Given the description of an element on the screen output the (x, y) to click on. 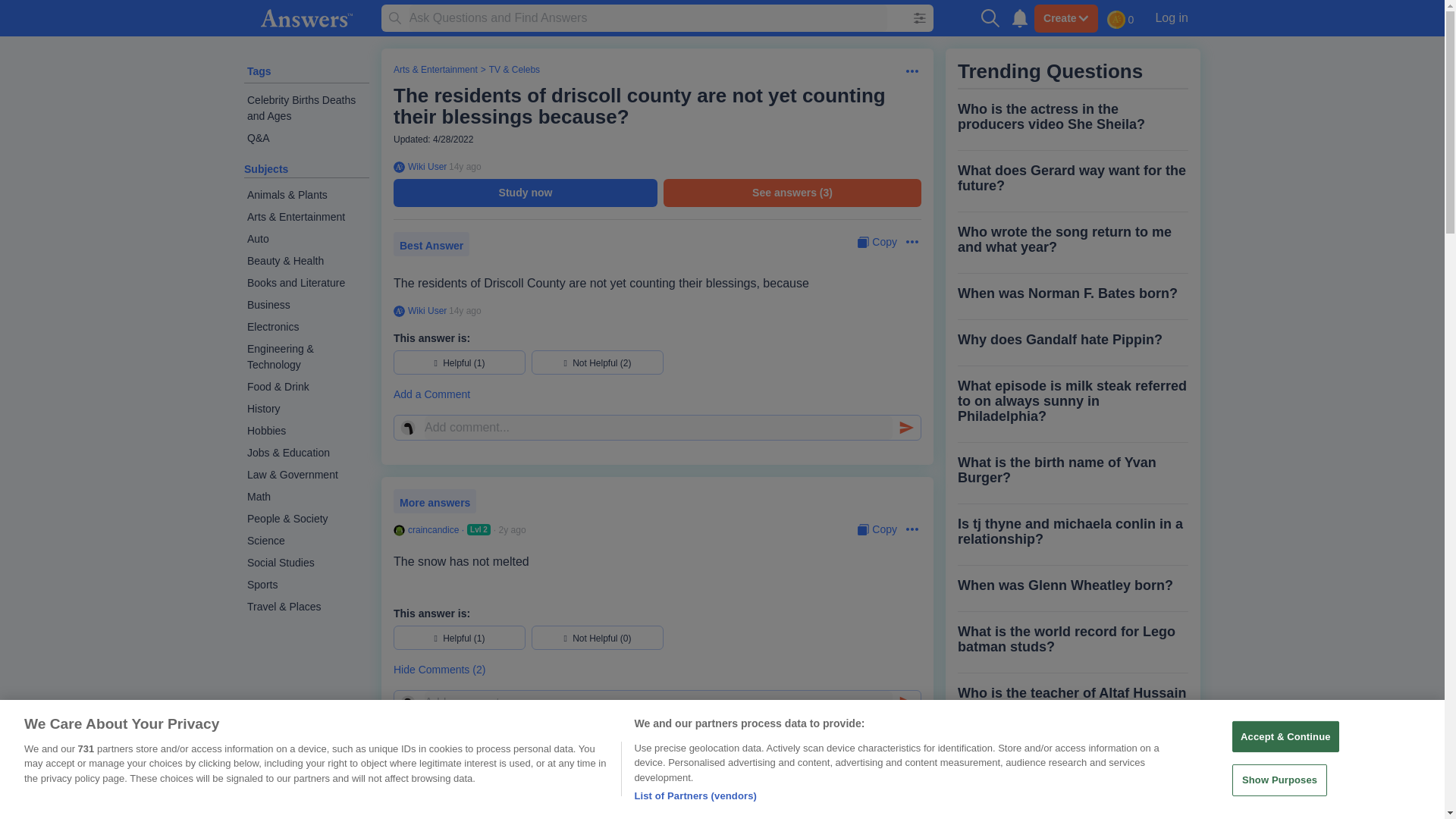
Auto (306, 239)
2021-08-15 10:06:36 (540, 750)
Copy (876, 529)
History (306, 409)
Math (306, 496)
Subjects (266, 168)
2009-10-10 21:24:45 (464, 166)
Electronics (306, 327)
Books and Literature (306, 282)
Hobbies (306, 431)
Study now (525, 193)
Tags (258, 70)
Log in (1170, 17)
Copy (876, 242)
